Given the description of an element on the screen output the (x, y) to click on. 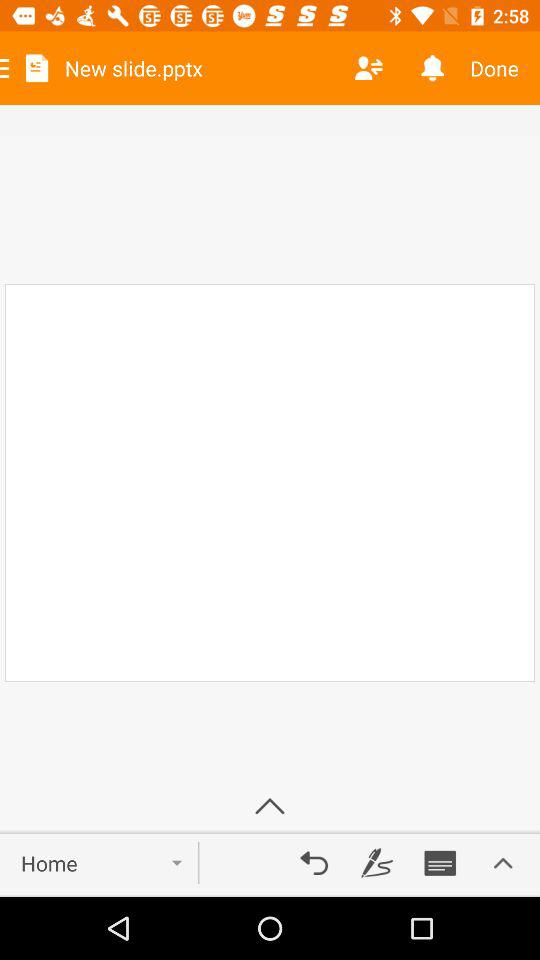
remake (314, 863)
